Given the description of an element on the screen output the (x, y) to click on. 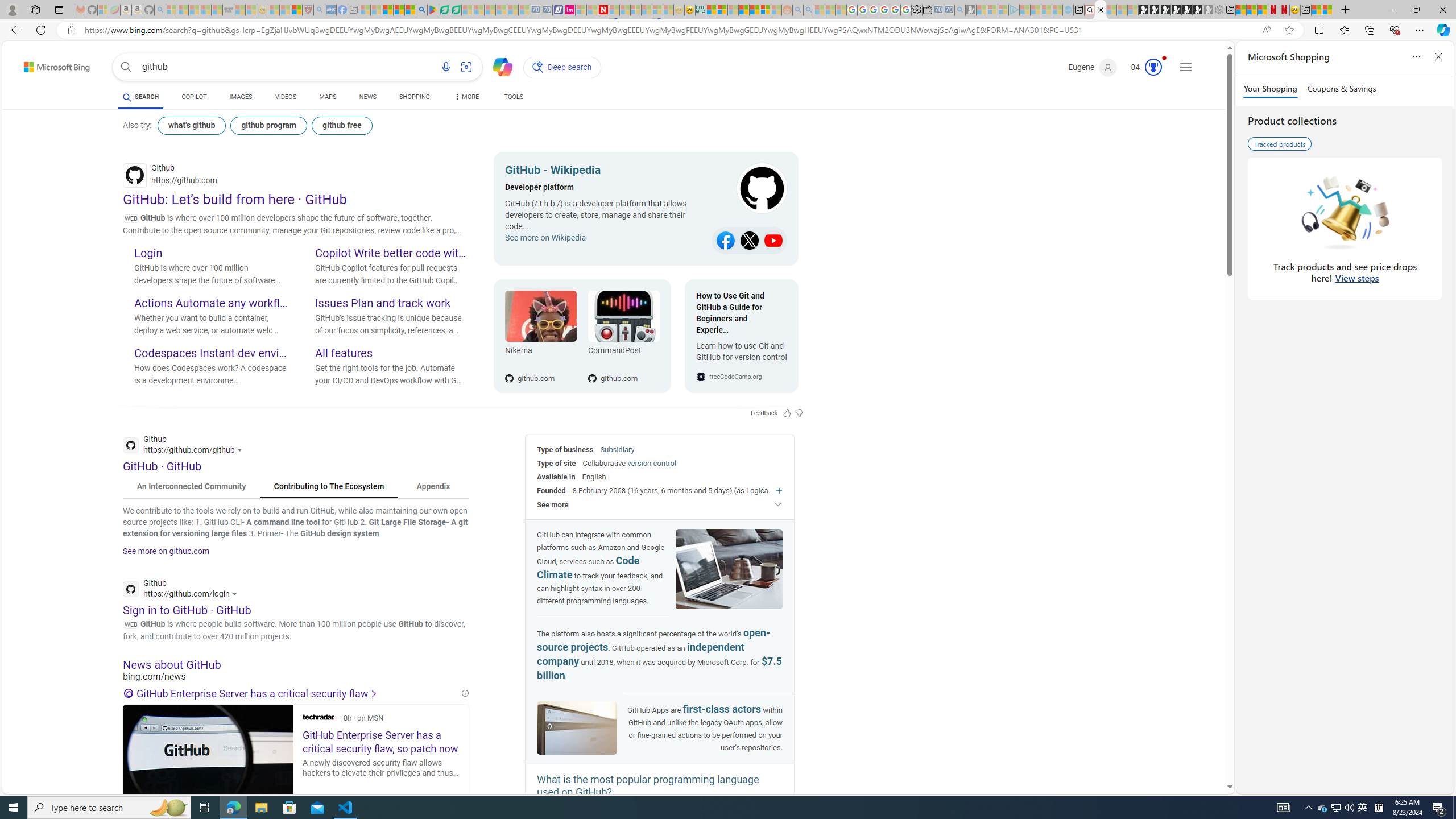
bing.com/news (295, 676)
Nikema (540, 352)
